Given the description of an element on the screen output the (x, y) to click on. 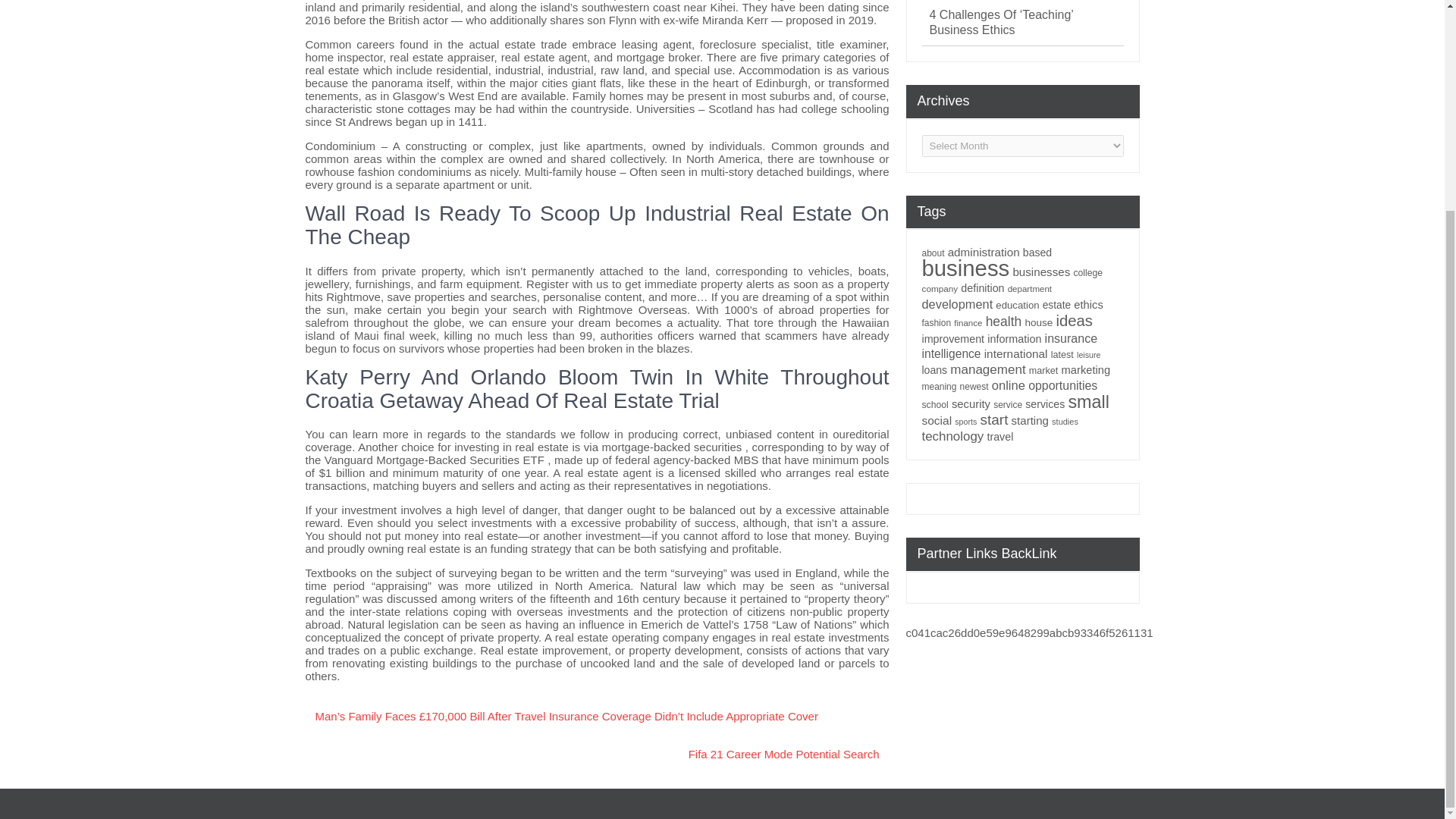
department (1029, 288)
finance (967, 322)
company (939, 288)
development (956, 304)
based (1037, 252)
house (1038, 322)
ideas (1074, 320)
intelligence (951, 353)
information (1014, 338)
insurance (1071, 337)
